Given the description of an element on the screen output the (x, y) to click on. 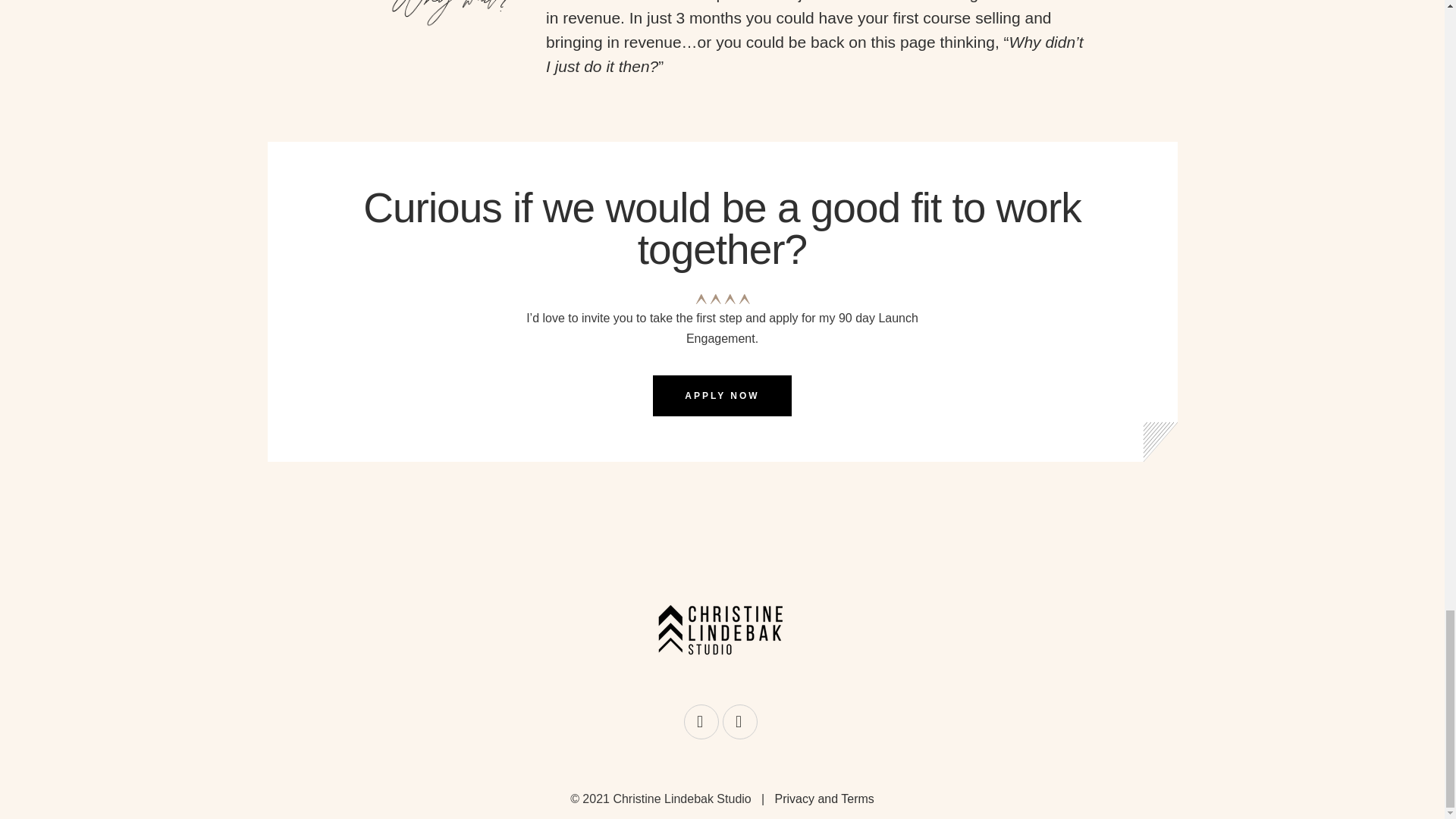
Privacy and Terms (824, 798)
APPLY NOW (721, 395)
